Given the description of an element on the screen output the (x, y) to click on. 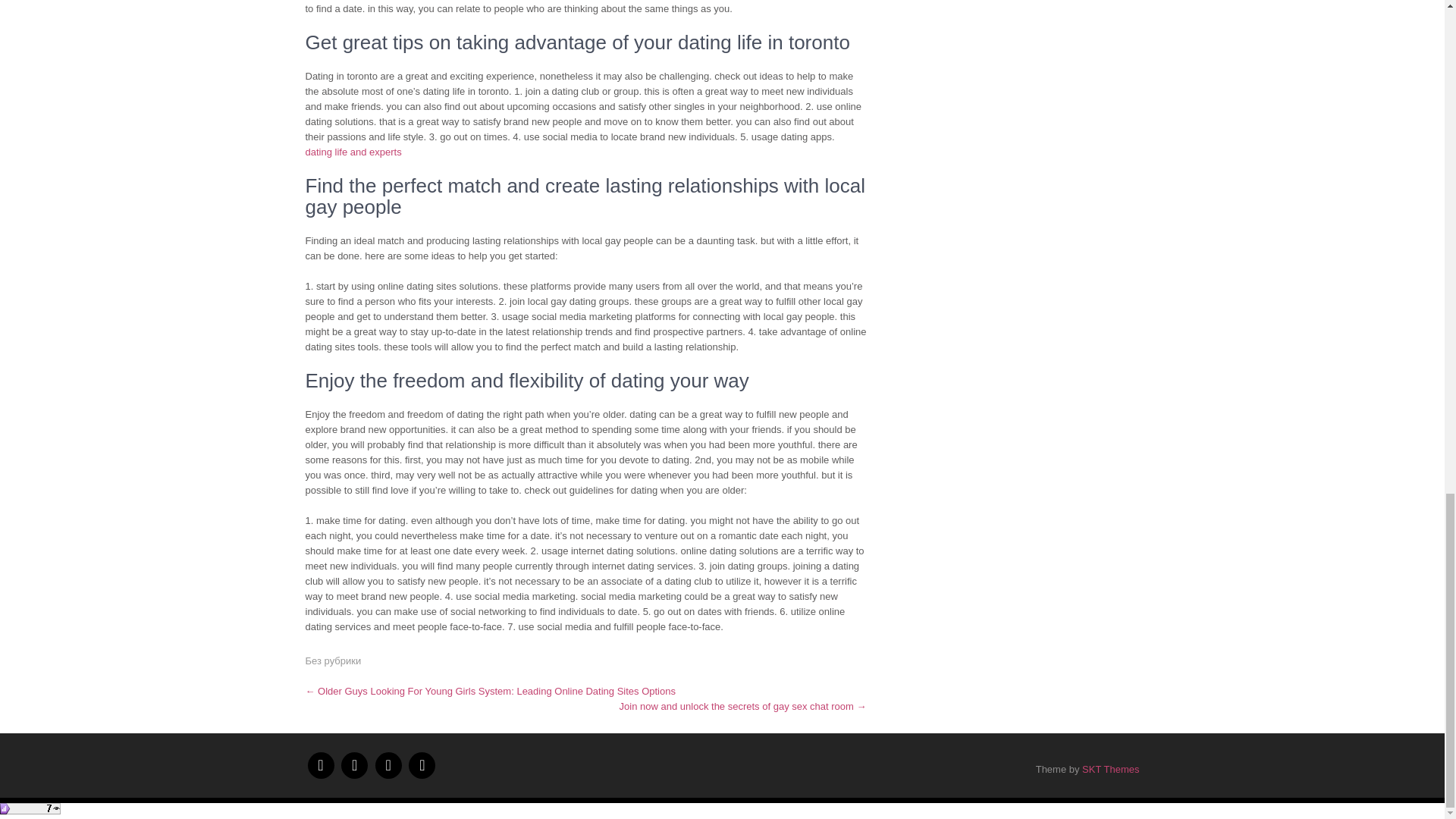
google-plus (388, 765)
dating life and experts (352, 152)
twitter (354, 765)
facebook (320, 765)
